Given the description of an element on the screen output the (x, y) to click on. 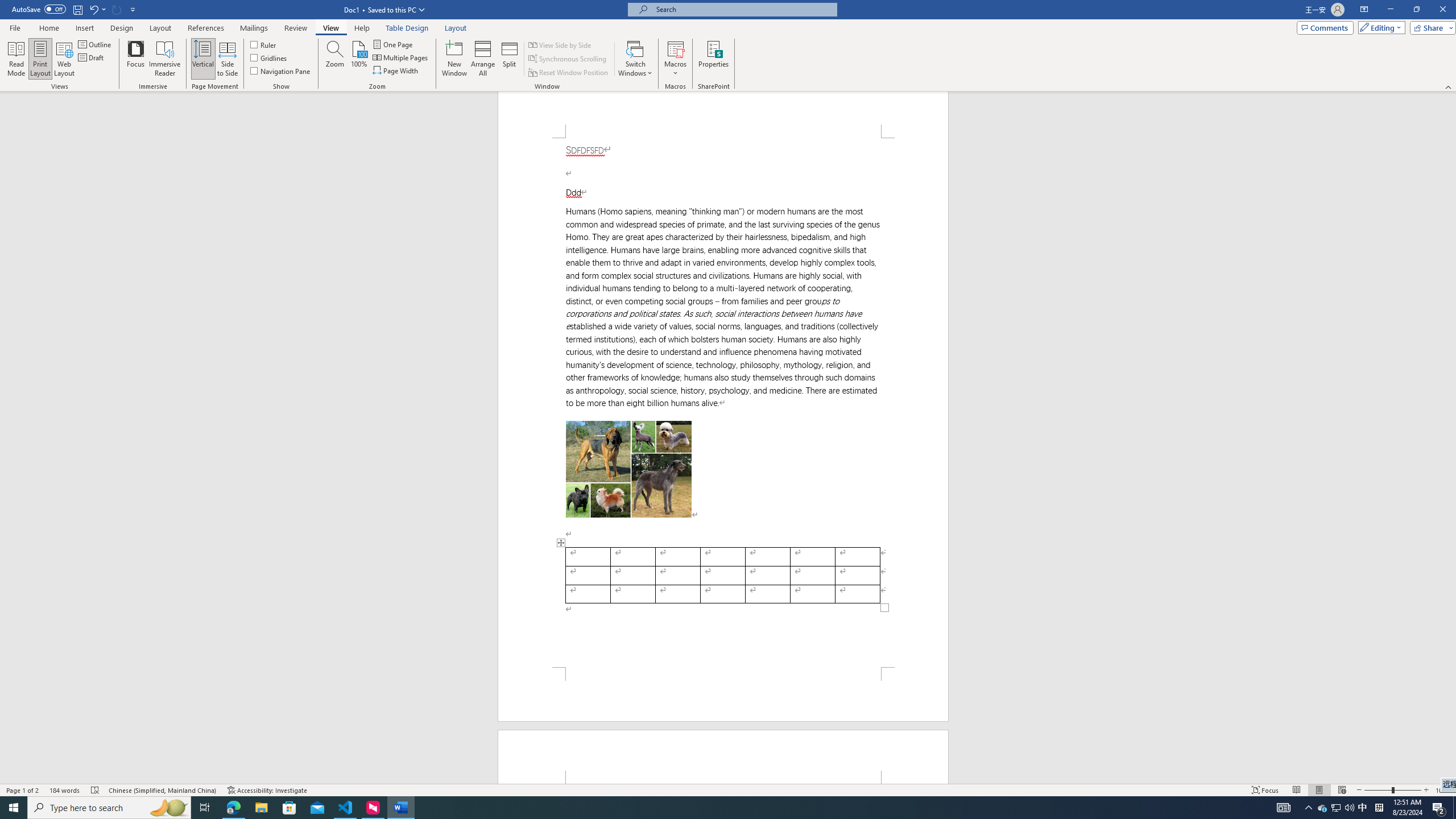
Split (509, 58)
Reset Window Position (569, 72)
Navigation Pane (281, 69)
Word Count 184 words (64, 790)
Ruler (263, 44)
One Page (393, 44)
Focus (135, 58)
Switch Windows (635, 58)
